Given the description of an element on the screen output the (x, y) to click on. 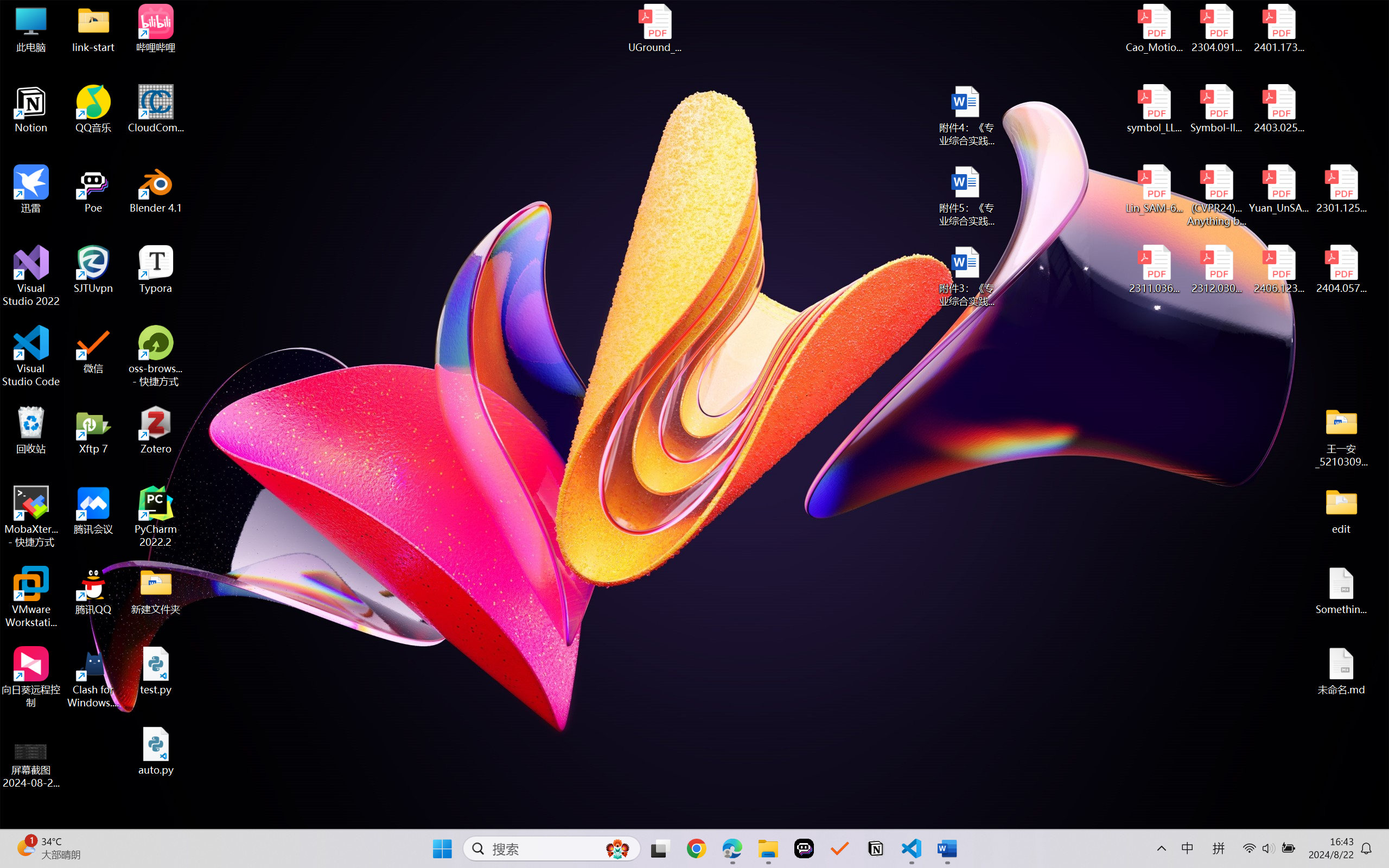
Google Chrome (696, 848)
(CVPR24)Matching Anything by Segmenting Anything.pdf (1216, 195)
SJTUvpn (93, 269)
Blender 4.1 (156, 189)
2401.17399v1.pdf (1278, 28)
auto.py (156, 751)
